Given the description of an element on the screen output the (x, y) to click on. 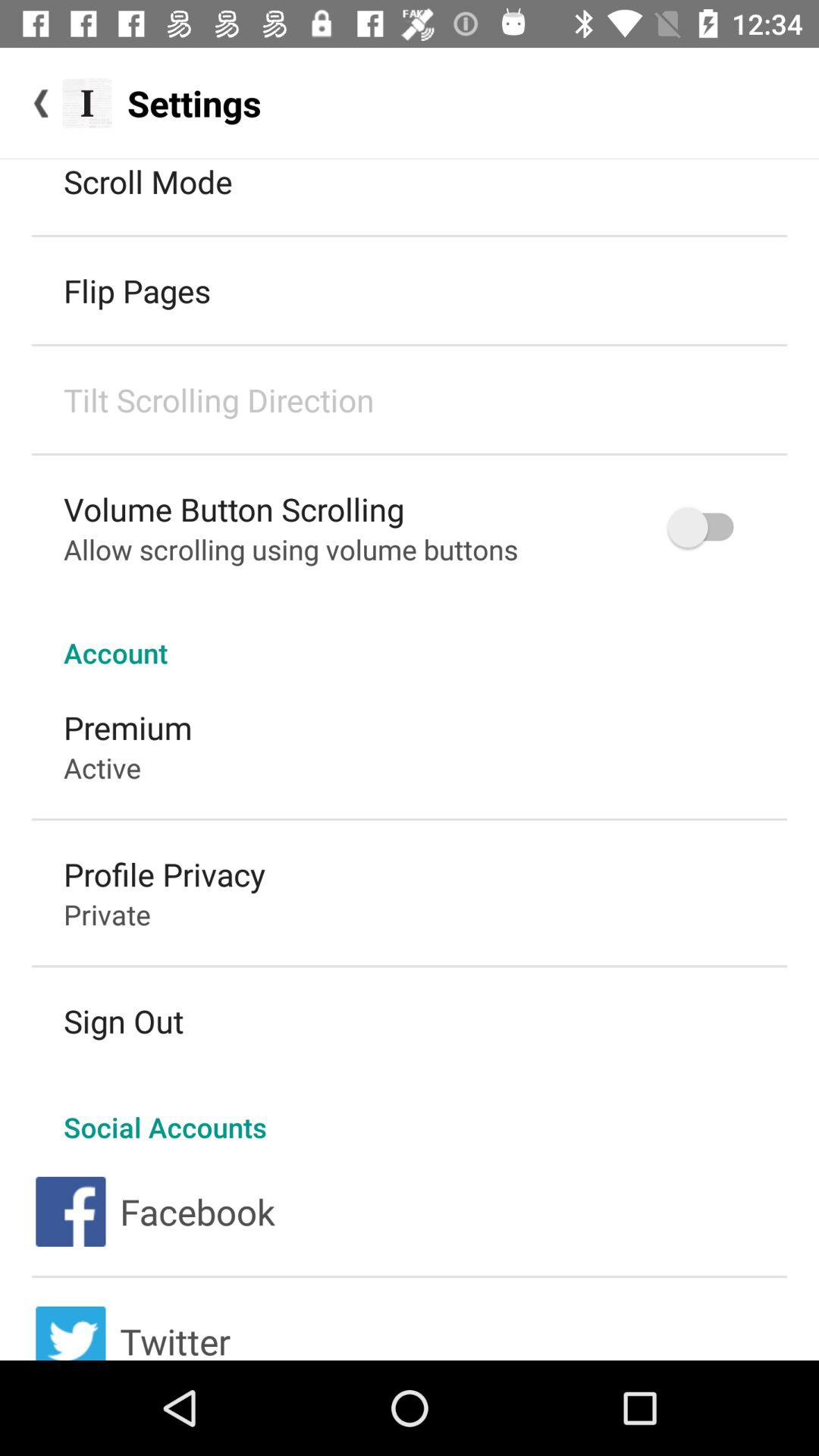
click the item next to allow scrolling using icon (707, 527)
